Given the description of an element on the screen output the (x, y) to click on. 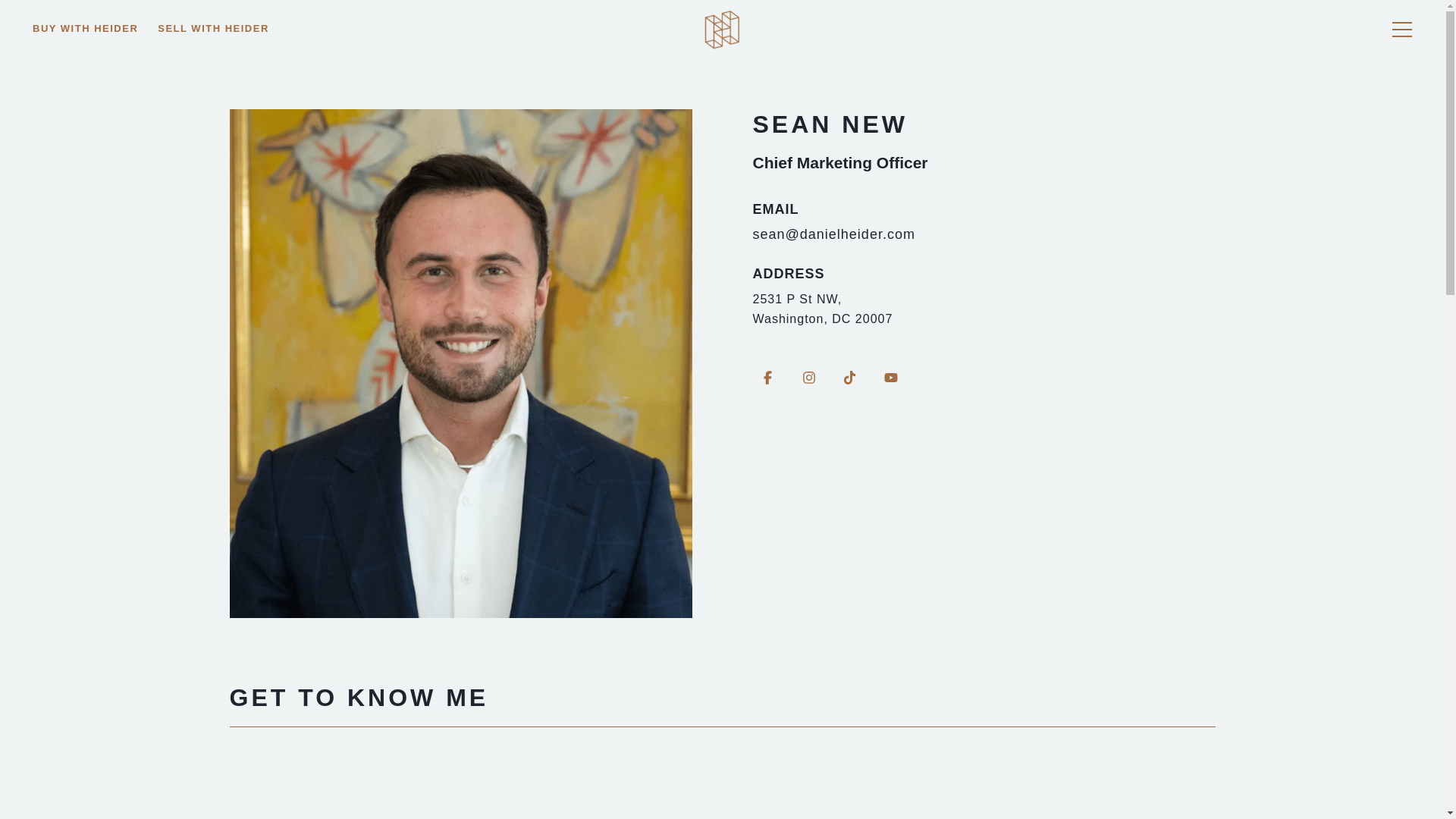
SELL WITH HEIDER (213, 63)
BUY WITH HEIDER (85, 66)
